Given the description of an element on the screen output the (x, y) to click on. 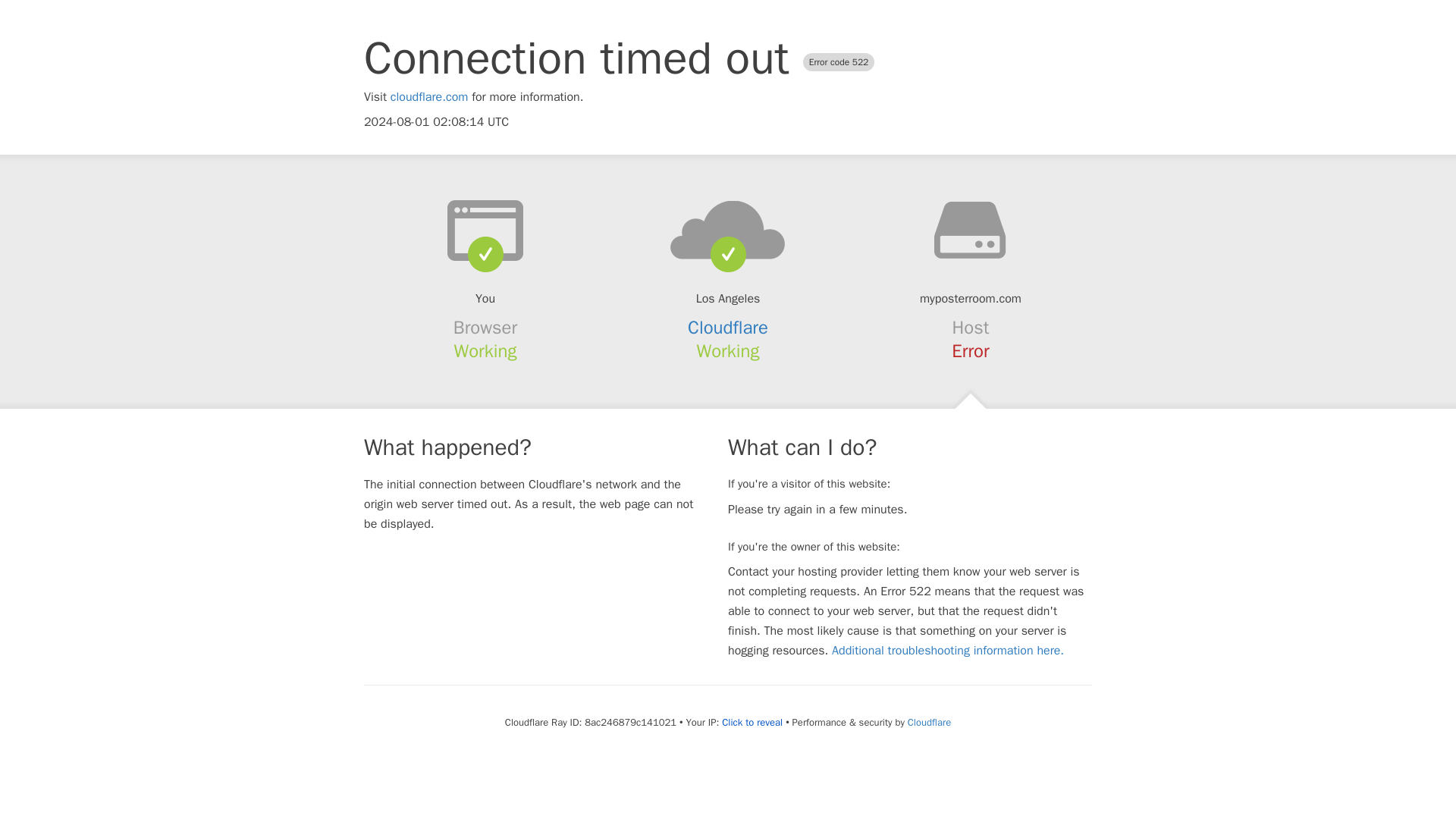
cloudflare.com (429, 96)
Cloudflare (727, 327)
Click to reveal (752, 722)
Additional troubleshooting information here. (947, 650)
Cloudflare (928, 721)
